Given the description of an element on the screen output the (x, y) to click on. 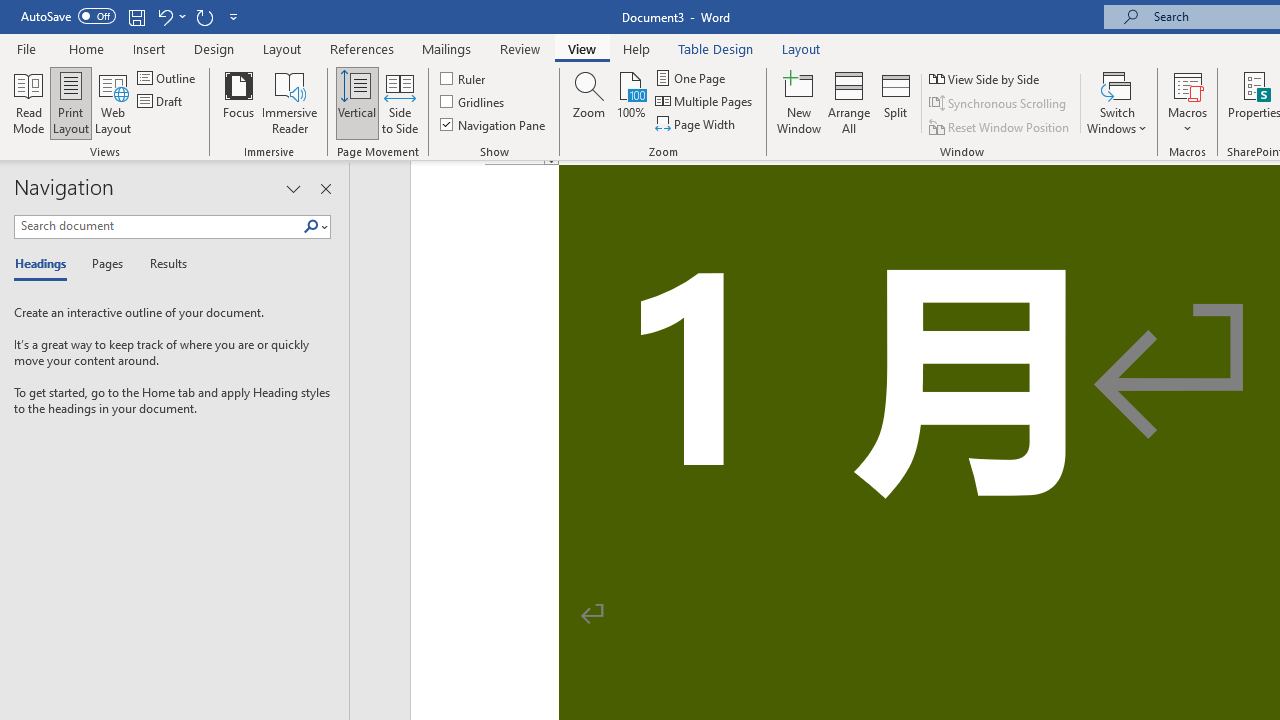
100% (630, 102)
One Page (691, 78)
View (582, 48)
Outline (168, 78)
Ruler (463, 78)
Results (161, 264)
Help (637, 48)
Quick Access Toolbar (131, 16)
Design (214, 48)
Macros (1187, 102)
Pages (105, 264)
Insert (149, 48)
Zoom... (589, 102)
File Tab (26, 48)
